Given the description of an element on the screen output the (x, y) to click on. 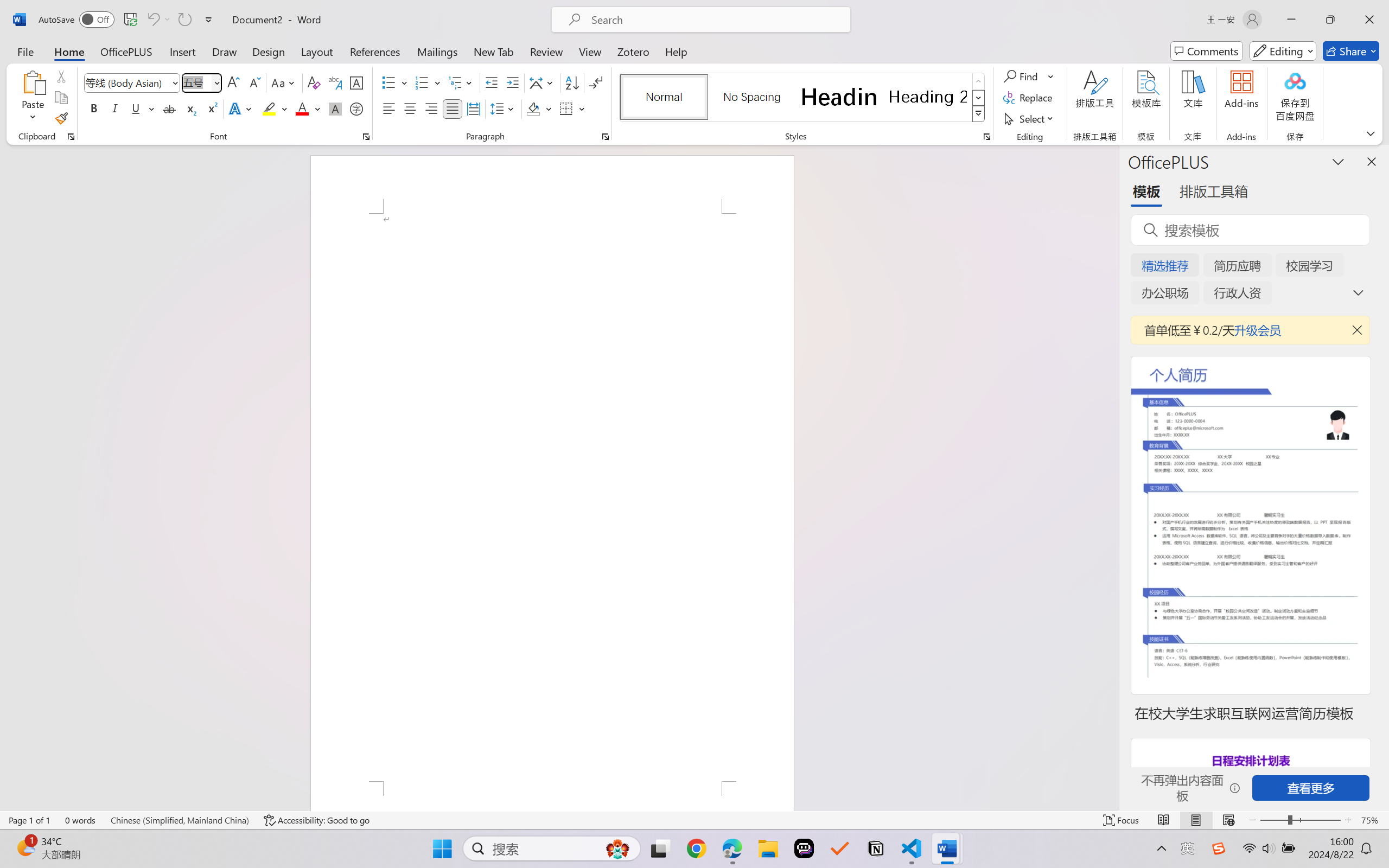
Task Pane Options (1338, 161)
Heading 1 (839, 96)
Show/Hide Editing Marks (595, 82)
Numbering (421, 82)
Class: Image (1218, 847)
Numbering (428, 82)
Zoom Out (1273, 819)
Share (1350, 51)
Character Border (356, 82)
Can't Undo (152, 19)
Text Highlight Color (274, 108)
Ribbon Display Options (1370, 132)
